Given the description of an element on the screen output the (x, y) to click on. 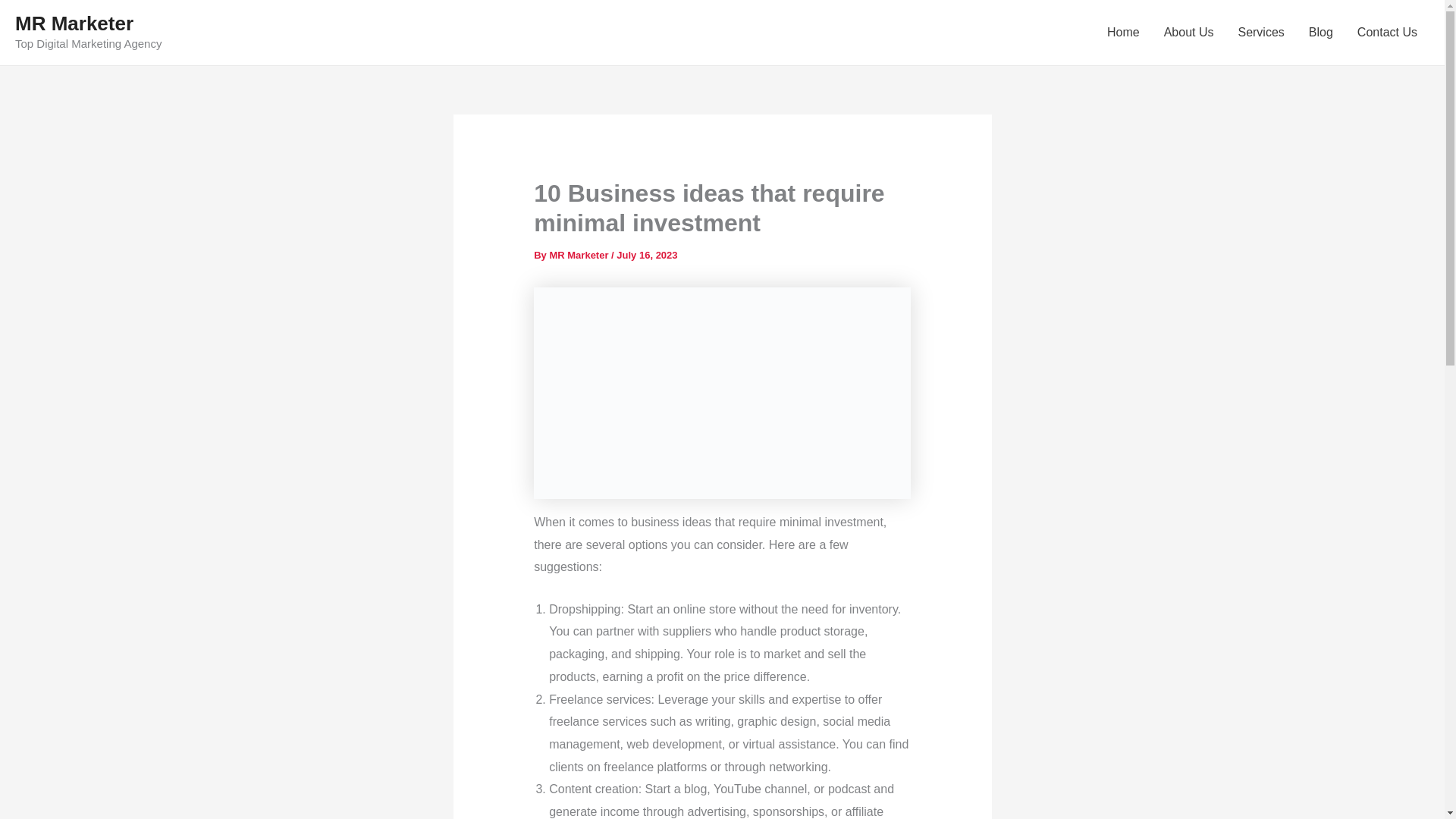
Blog (1321, 32)
MR Marketer (579, 255)
Contact Us (1387, 32)
Services (1260, 32)
MR Marketer (73, 23)
Home (1122, 32)
View all posts by MR Marketer (579, 255)
About Us (1188, 32)
